Given the description of an element on the screen output the (x, y) to click on. 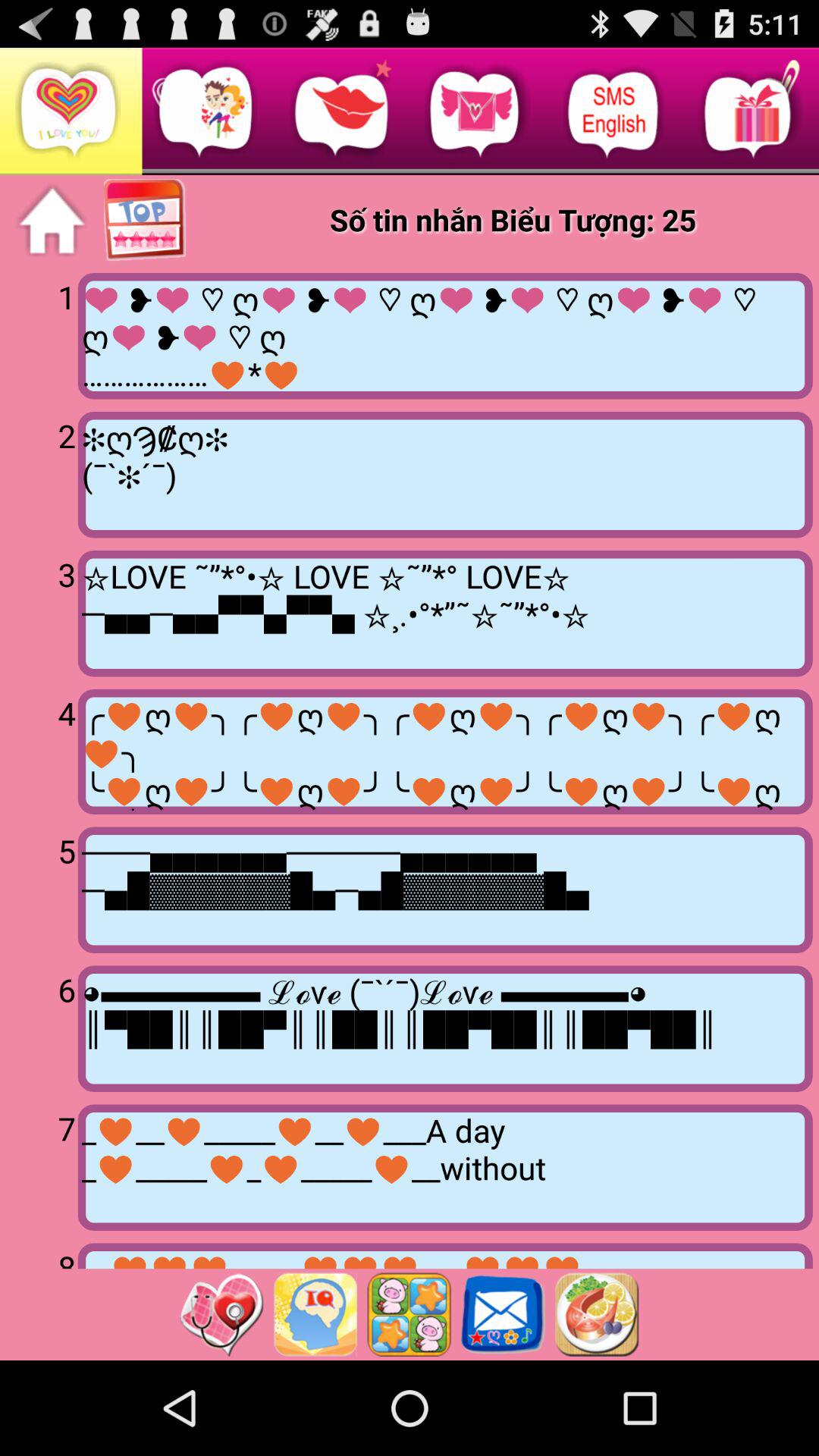
choose the icon above 4 icon (41, 611)
